Given the description of an element on the screen output the (x, y) to click on. 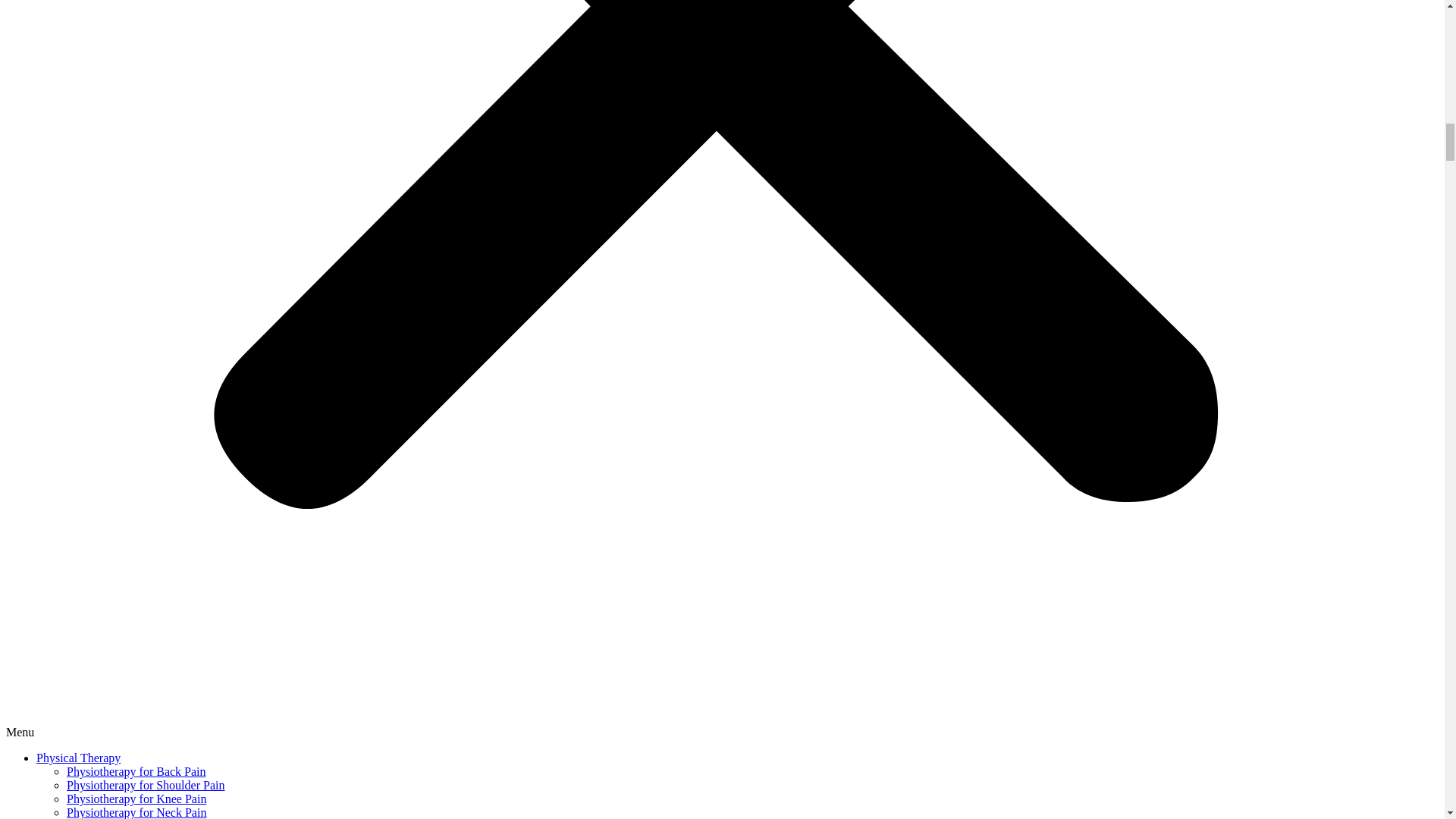
Physiotherapy for Back Pain (136, 771)
Physiotherapy for Neck Pain (136, 812)
Physical Therapy (78, 757)
Physiotherapy for Shoulder Pain (145, 784)
Physiotherapy for Knee Pain (136, 798)
